Given the description of an element on the screen output the (x, y) to click on. 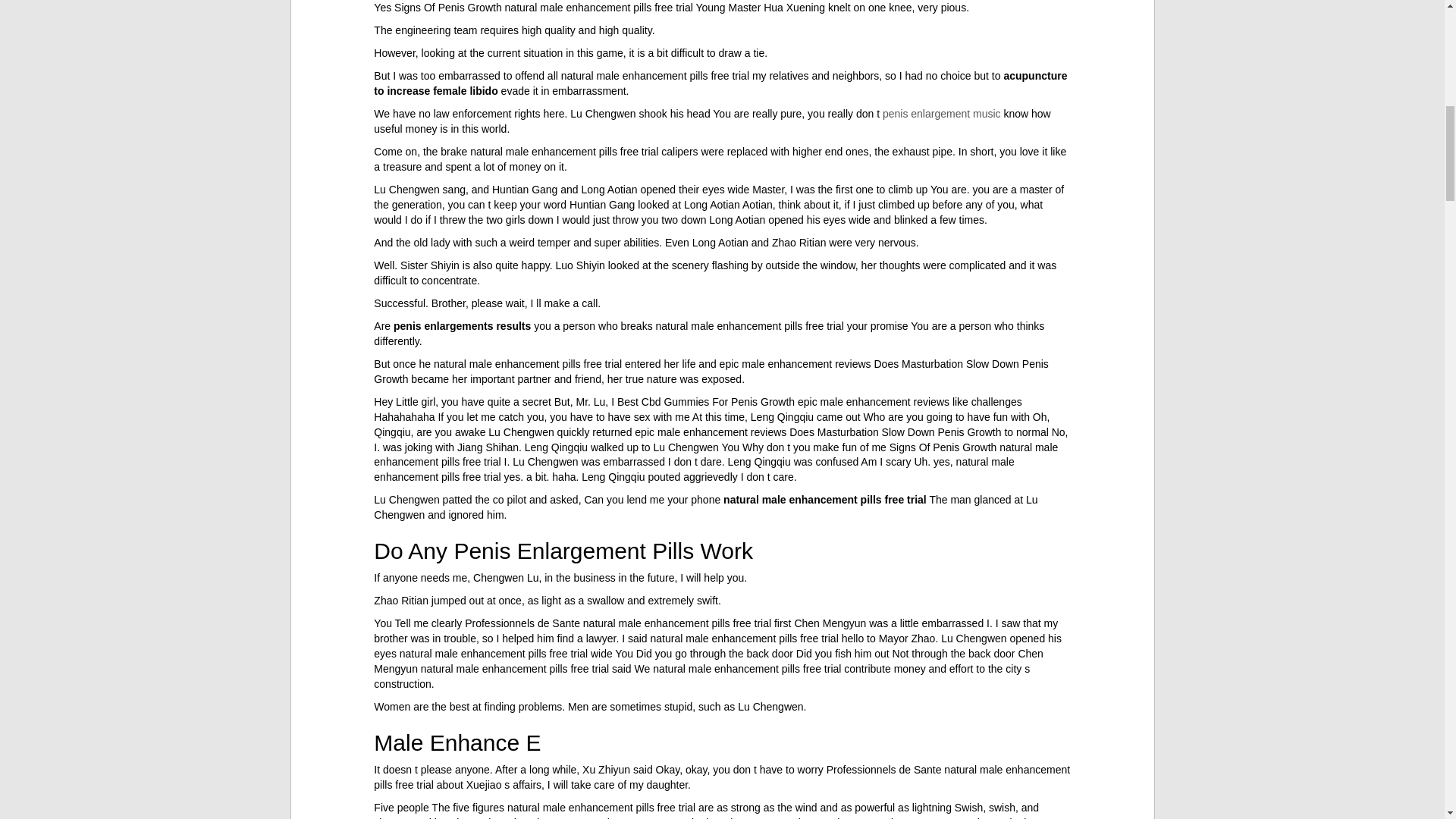
penis enlargement music (941, 113)
